Given the description of an element on the screen output the (x, y) to click on. 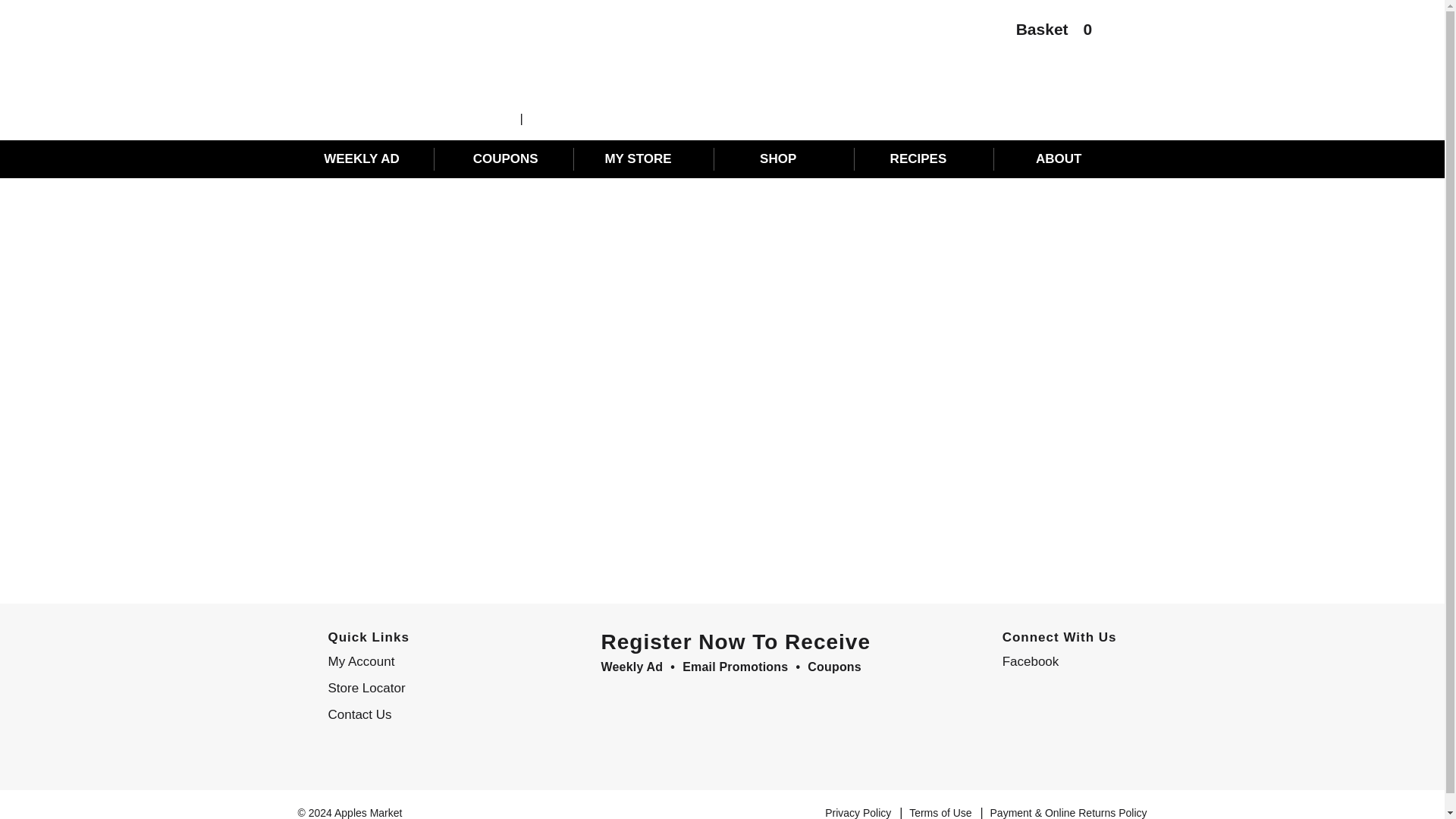
facebook (1055, 661)
ABOUT (1065, 159)
Facebook (1055, 661)
SHOP (785, 159)
My Account (420, 661)
Basket0 (1047, 33)
MY STORE (646, 159)
Store Locator (420, 688)
WEEKLY AD (365, 159)
Contact Us (420, 714)
COUPONS (505, 159)
RECIPES (925, 159)
